Given the description of an element on the screen output the (x, y) to click on. 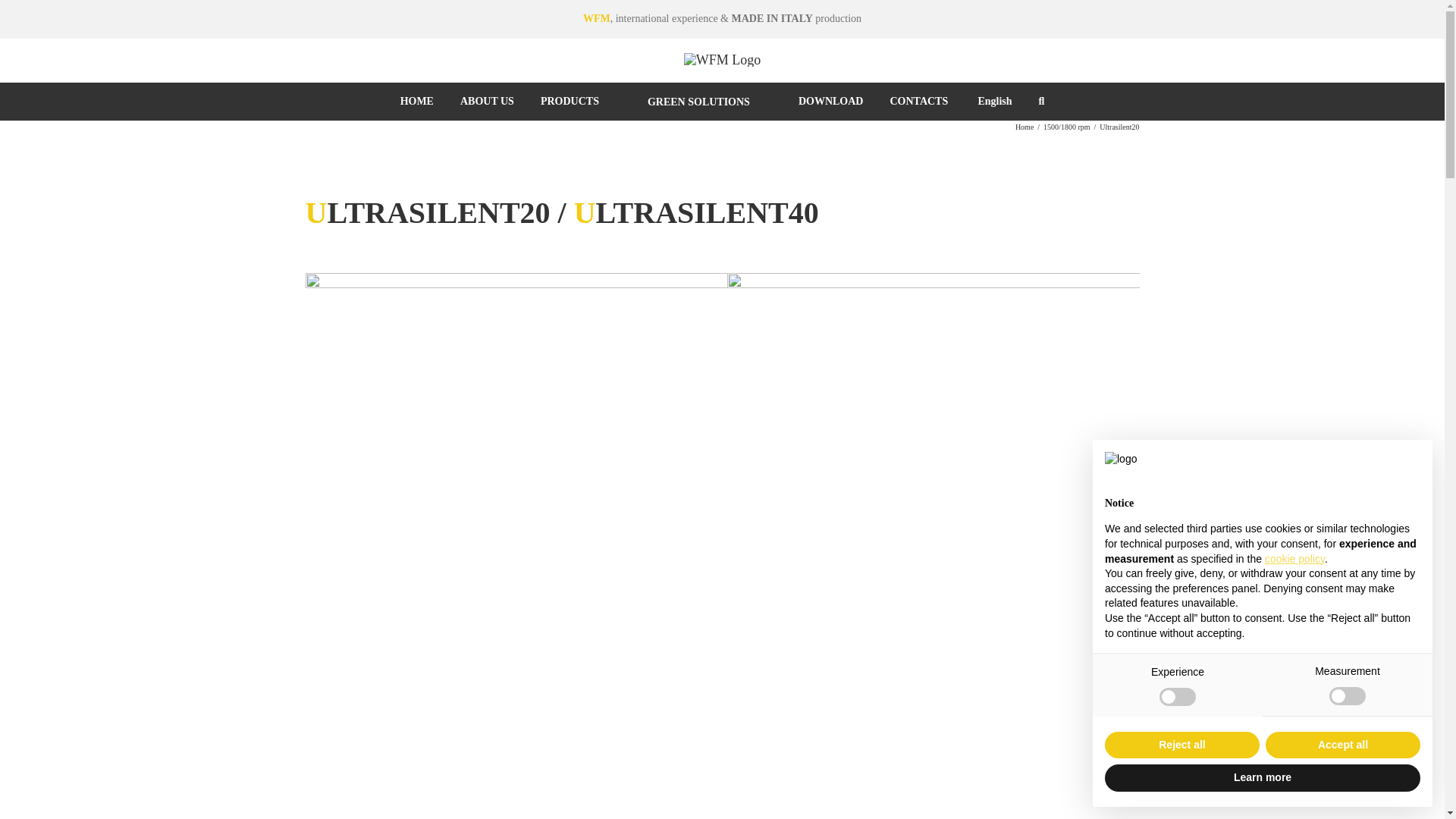
false (1347, 696)
PRODUCTS (569, 101)
ABOUT US (486, 101)
false (1176, 696)
HOME (416, 101)
DOWNLOAD (830, 101)
CONTACTS (918, 101)
English (992, 101)
GREEN SOLUTIONS (697, 101)
English (992, 101)
